Given the description of an element on the screen output the (x, y) to click on. 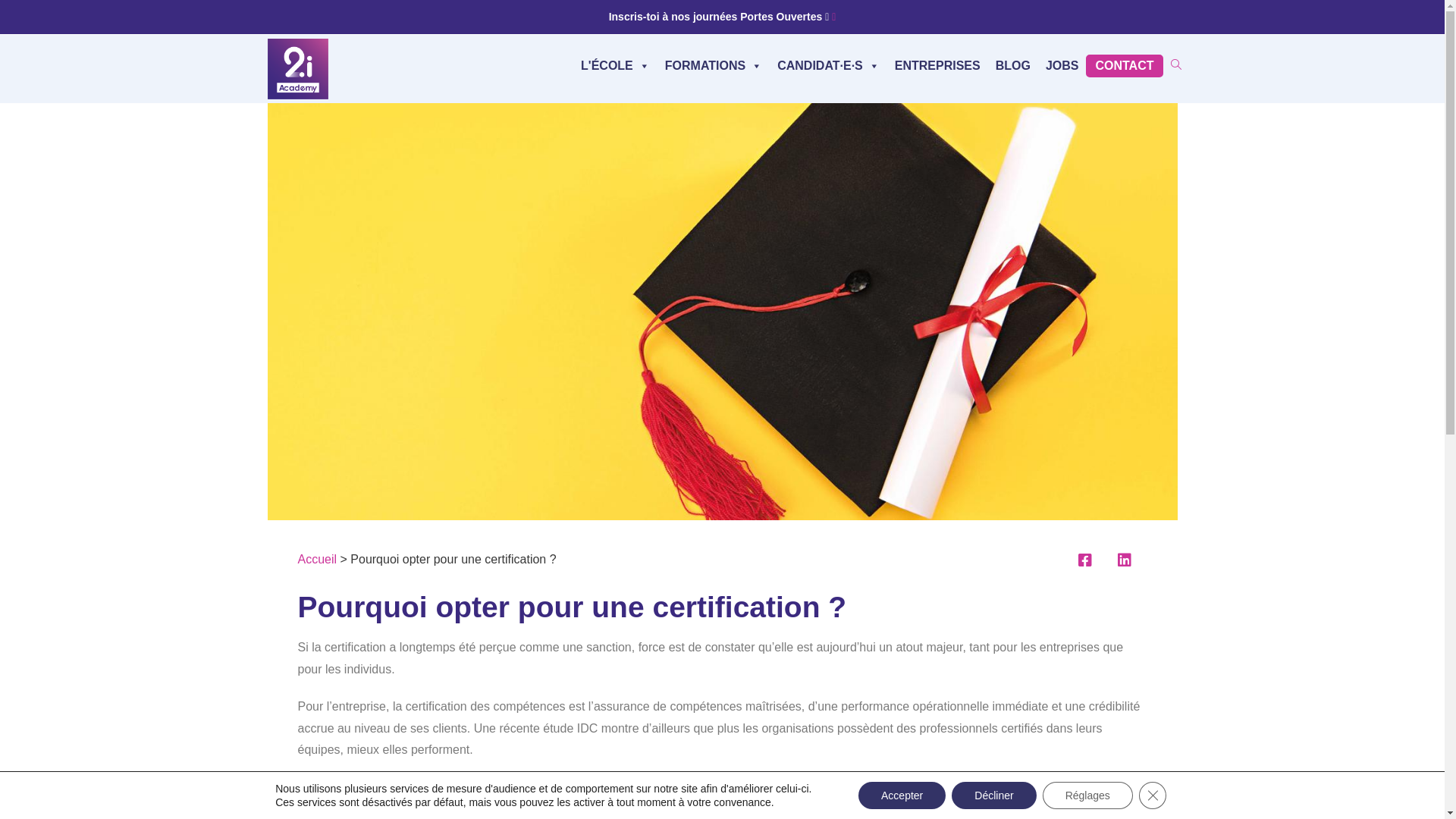
FORMATIONS Element type: text (713, 65)
Accueil Element type: text (316, 558)
ENTREPRISES Element type: text (937, 65)
JOBS Element type: text (1062, 65)
CONTACT Element type: text (1123, 65)
Close GDPR Cookie Banner Element type: text (1152, 795)
Accepter Element type: text (901, 795)
BLOG Element type: text (1013, 65)
